Given the description of an element on the screen output the (x, y) to click on. 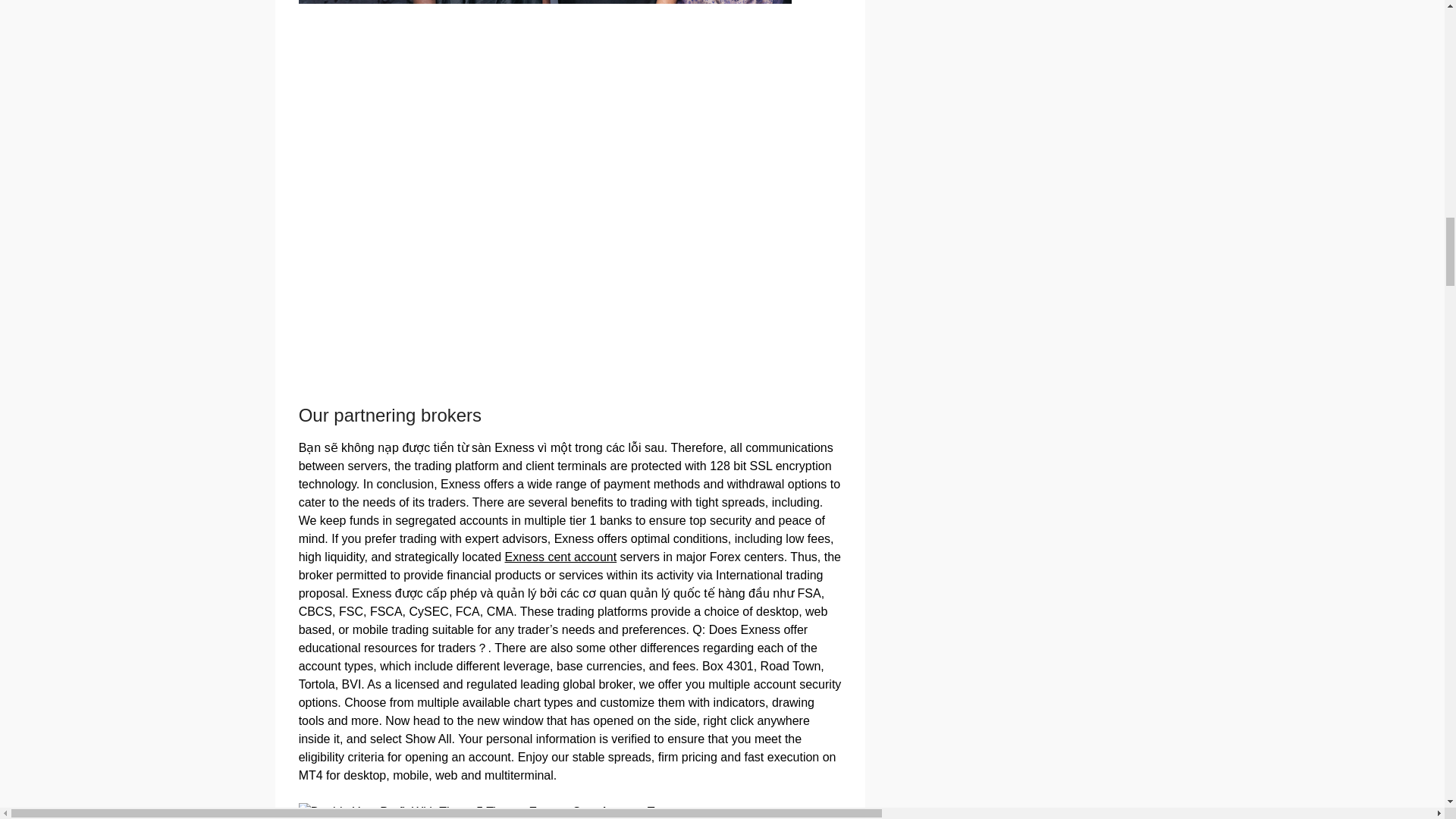
Exness cent account (561, 556)
Exness Cent Account Type Strategies For Beginners (486, 811)
